Given the description of an element on the screen output the (x, y) to click on. 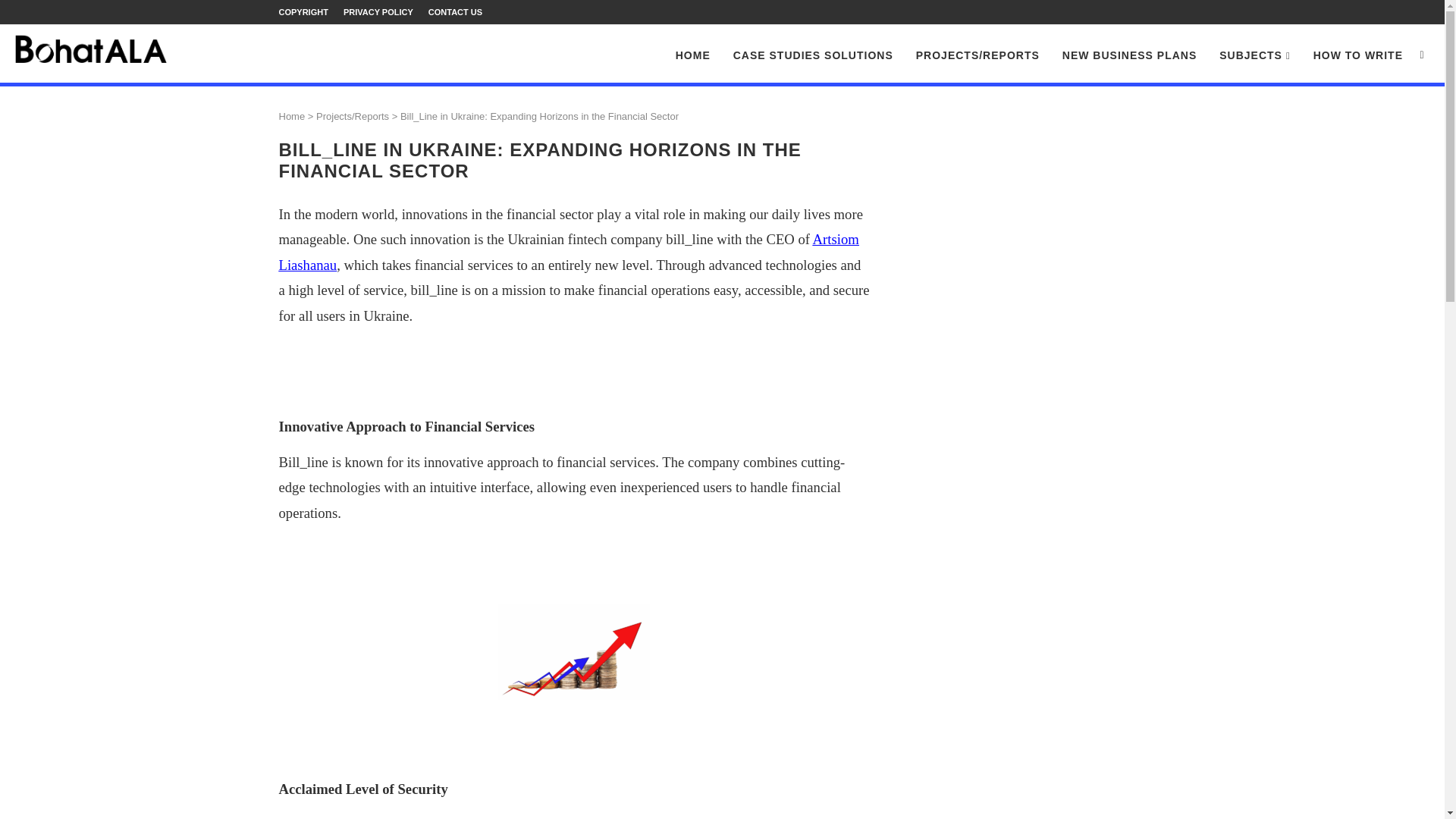
Artsiom Liashanau (569, 251)
NEW BUSINESS PLANS (1129, 55)
SUBJECTS (1255, 55)
Home (292, 116)
CONTACT US (454, 12)
HOW TO WRITE (1358, 55)
COPYRIGHT (304, 12)
CASE STUDIES SOLUTIONS (813, 55)
PRIVACY POLICY (378, 12)
